Given the description of an element on the screen output the (x, y) to click on. 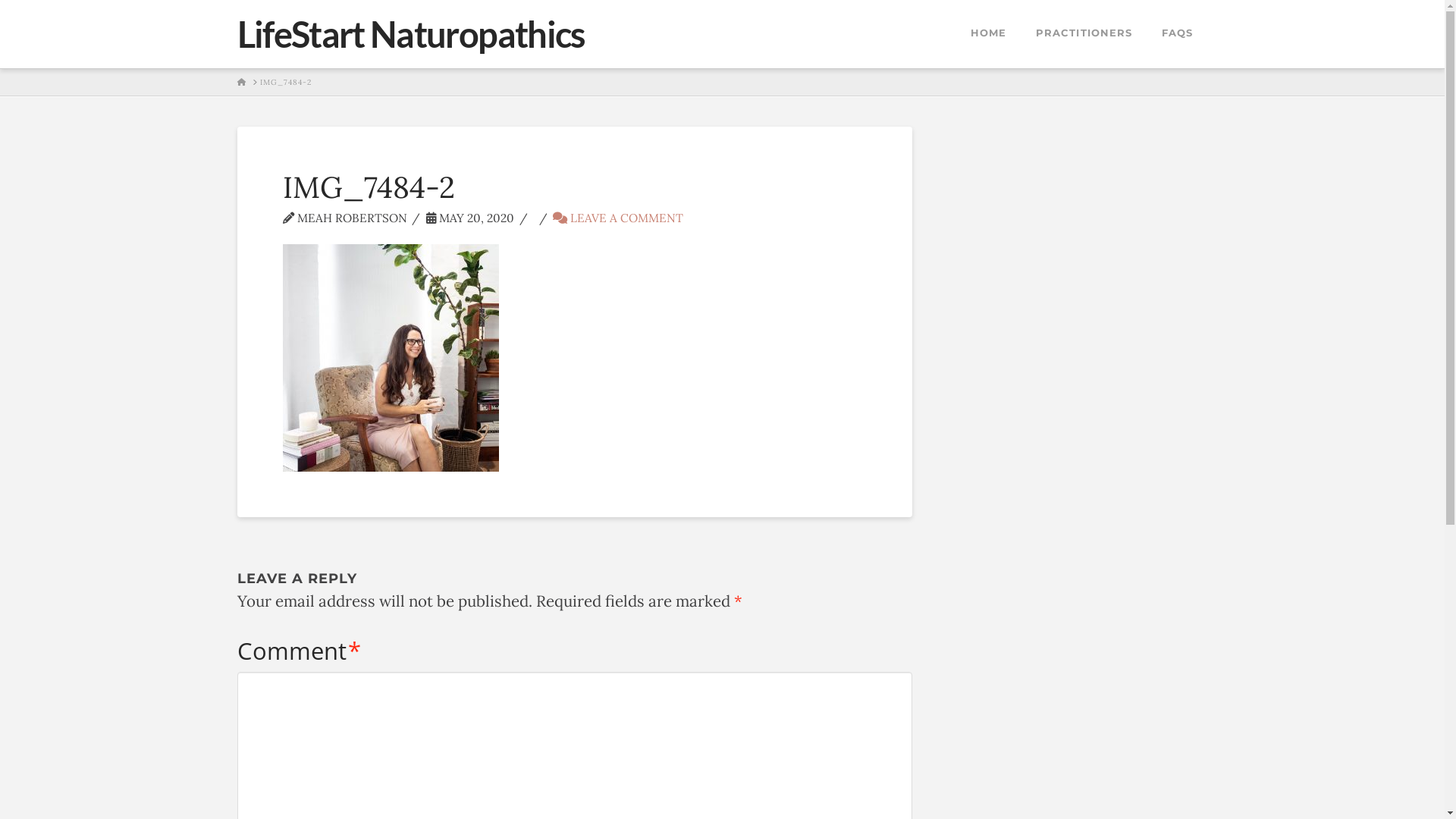
LifeStart Naturopathics Element type: text (410, 34)
LEAVE A COMMENT Element type: text (617, 217)
HOME Element type: text (240, 82)
PRACTITIONERS Element type: text (1083, 34)
IMG_7484-2 Element type: text (284, 82)
FAQS Element type: text (1176, 34)
HOME Element type: text (987, 34)
